Given the description of an element on the screen output the (x, y) to click on. 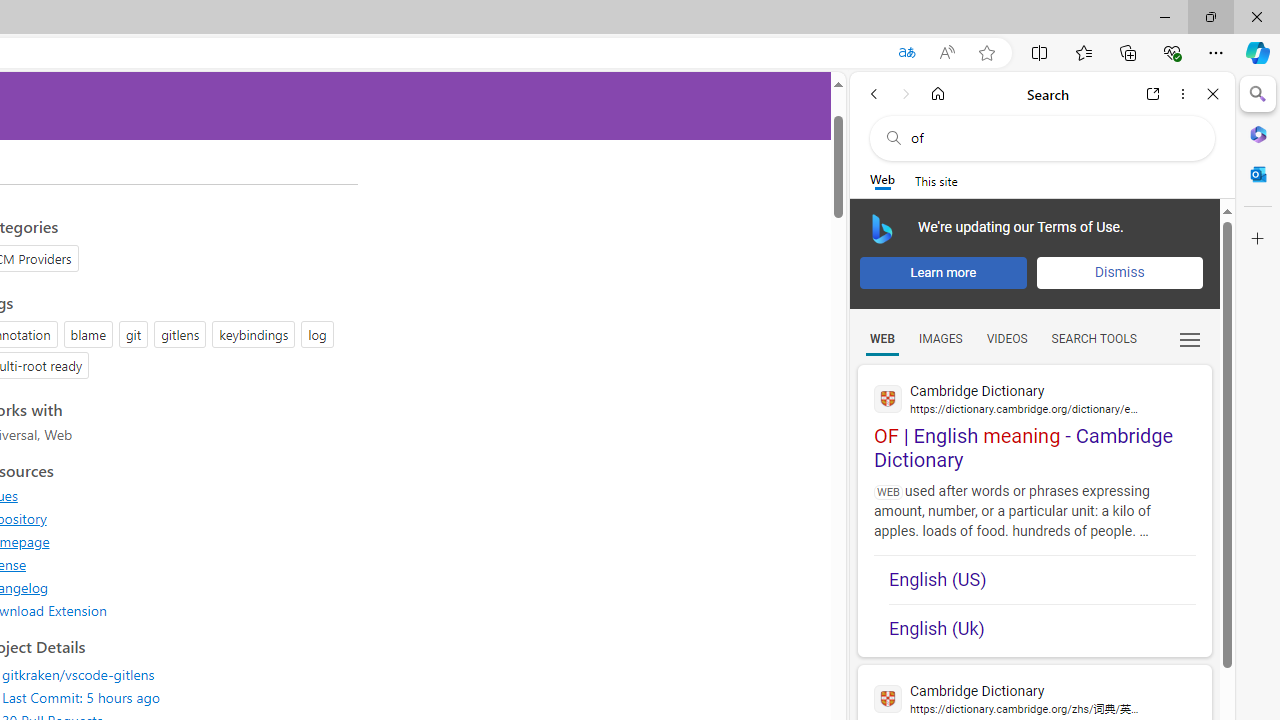
OF | English meaning - Cambridge Dictionary (1034, 419)
VIDEOS (1006, 339)
Translated (906, 53)
Search Filter, IMAGES (939, 339)
This site scope (936, 180)
Outlook (1258, 174)
